Given the description of an element on the screen output the (x, y) to click on. 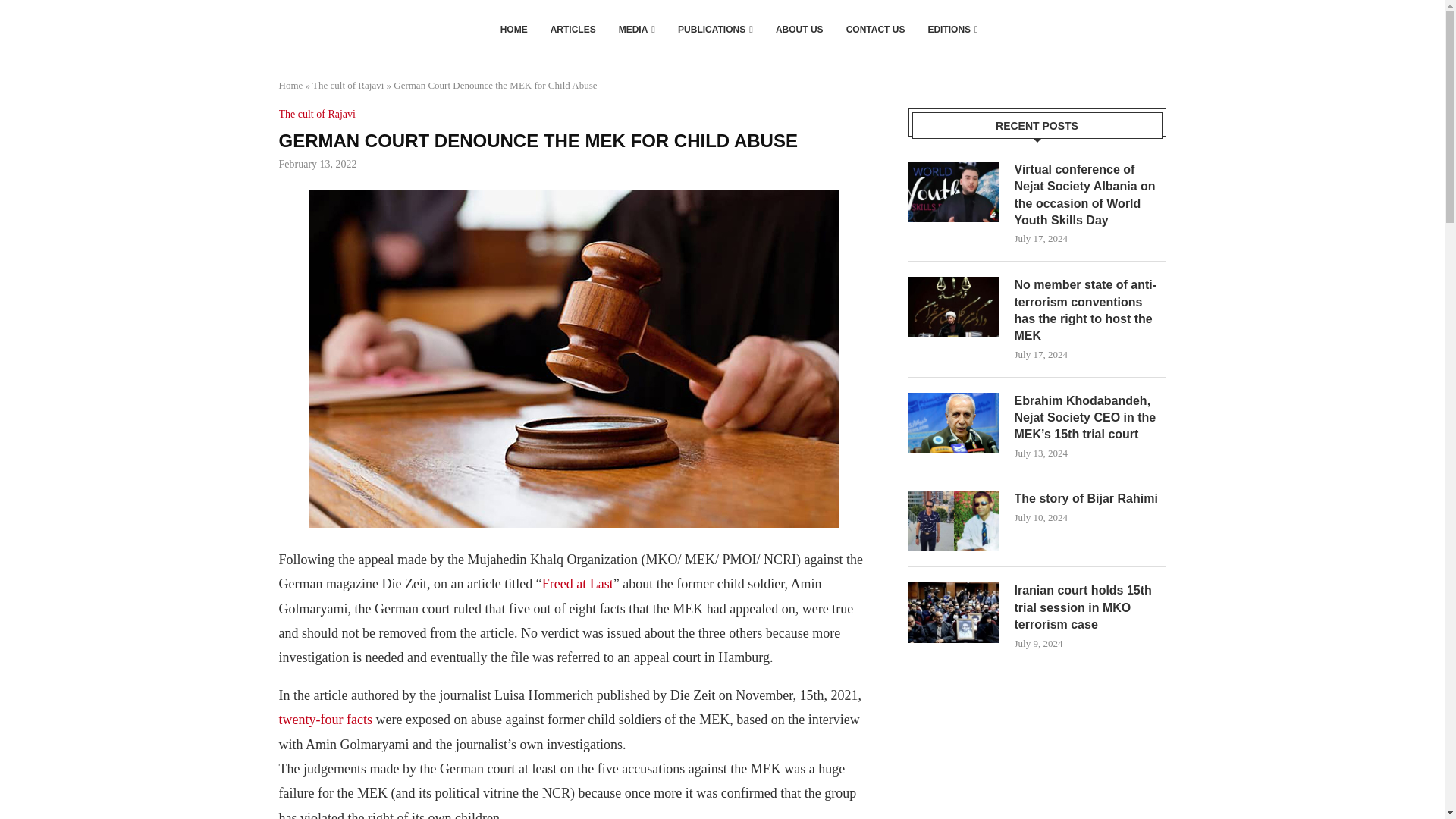
EDITIONS (951, 29)
ABOUT US (800, 29)
PUBLICATIONS (715, 29)
CONTACT US (875, 29)
ARTICLES (572, 29)
